Given the description of an element on the screen output the (x, y) to click on. 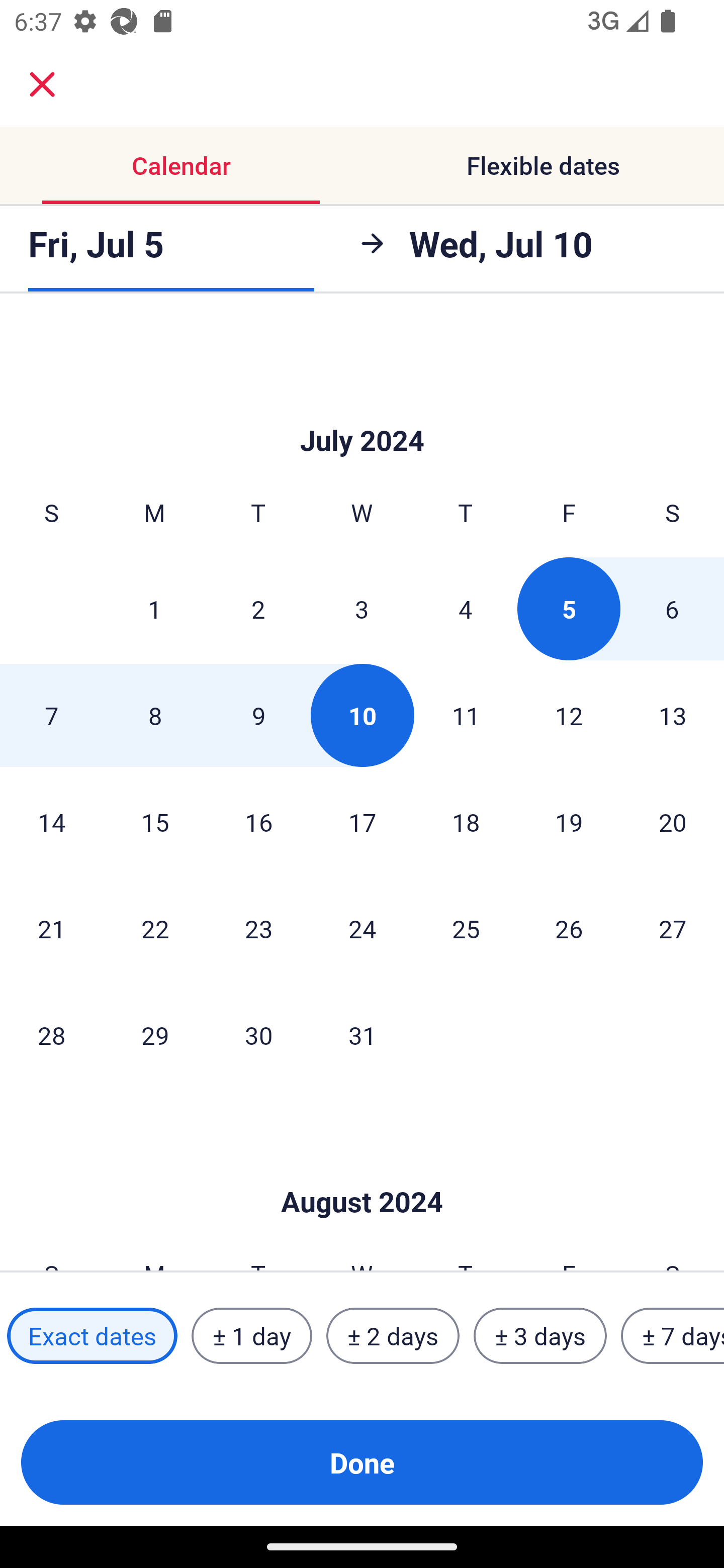
close. (42, 84)
Flexible dates (542, 164)
Skip to Done (362, 410)
1 Monday, July 1, 2024 (154, 608)
2 Tuesday, July 2, 2024 (257, 608)
3 Wednesday, July 3, 2024 (361, 608)
4 Thursday, July 4, 2024 (465, 608)
11 Thursday, July 11, 2024 (465, 714)
12 Friday, July 12, 2024 (569, 714)
13 Saturday, July 13, 2024 (672, 714)
14 Sunday, July 14, 2024 (51, 821)
15 Monday, July 15, 2024 (155, 821)
16 Tuesday, July 16, 2024 (258, 821)
17 Wednesday, July 17, 2024 (362, 821)
18 Thursday, July 18, 2024 (465, 821)
19 Friday, July 19, 2024 (569, 821)
20 Saturday, July 20, 2024 (672, 821)
21 Sunday, July 21, 2024 (51, 928)
22 Monday, July 22, 2024 (155, 928)
23 Tuesday, July 23, 2024 (258, 928)
24 Wednesday, July 24, 2024 (362, 928)
25 Thursday, July 25, 2024 (465, 928)
26 Friday, July 26, 2024 (569, 928)
27 Saturday, July 27, 2024 (672, 928)
28 Sunday, July 28, 2024 (51, 1034)
29 Monday, July 29, 2024 (155, 1034)
30 Tuesday, July 30, 2024 (258, 1034)
31 Wednesday, July 31, 2024 (362, 1034)
Skip to Done (362, 1171)
Exact dates (92, 1335)
± 1 day (251, 1335)
± 2 days (392, 1335)
± 3 days (539, 1335)
± 7 days (672, 1335)
Done (361, 1462)
